Given the description of an element on the screen output the (x, y) to click on. 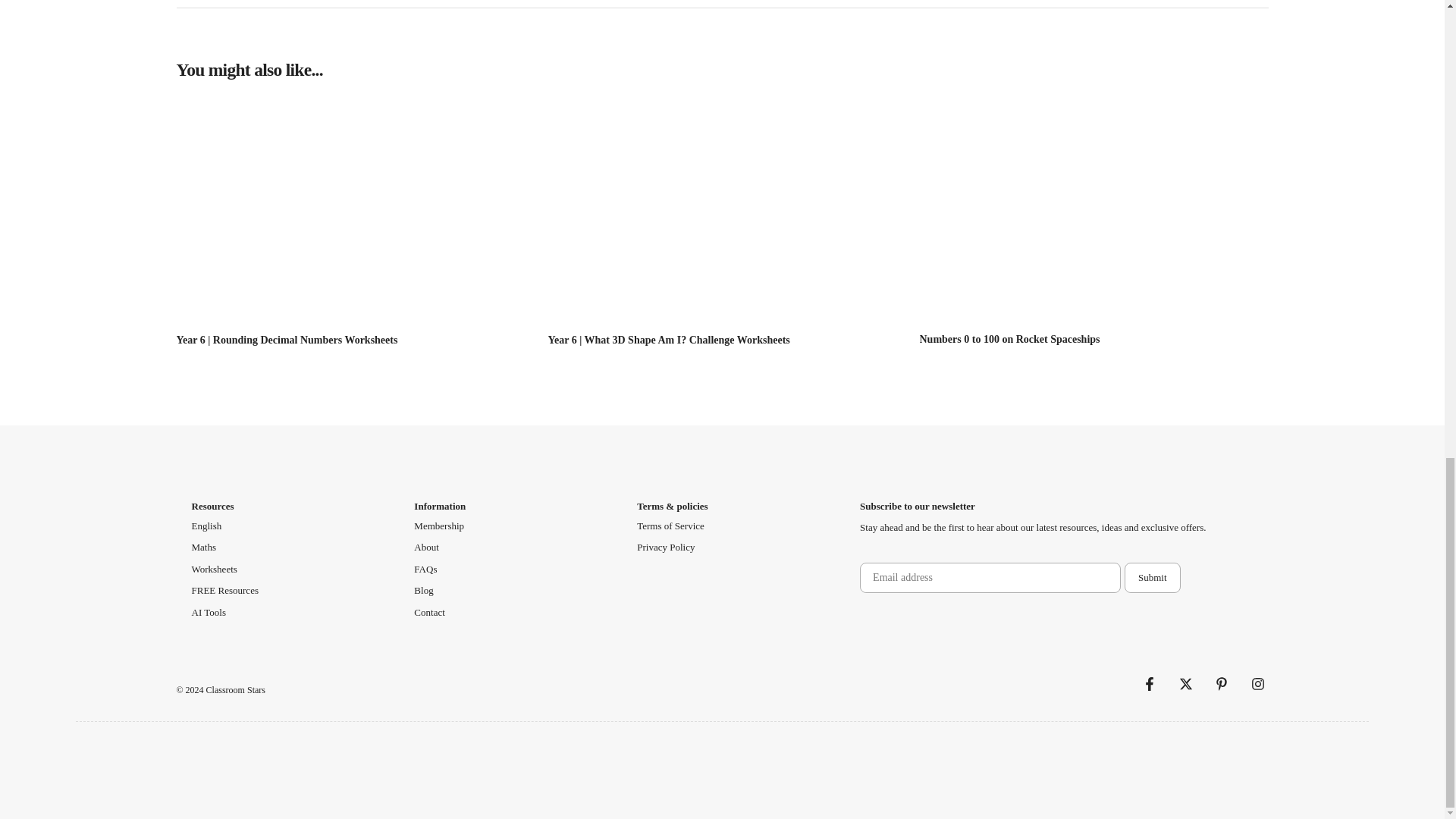
Maths (202, 547)
Numbers 0 to 100 on Rocket Spaceships (1008, 338)
Worksheets (212, 569)
English (205, 525)
